Given the description of an element on the screen output the (x, y) to click on. 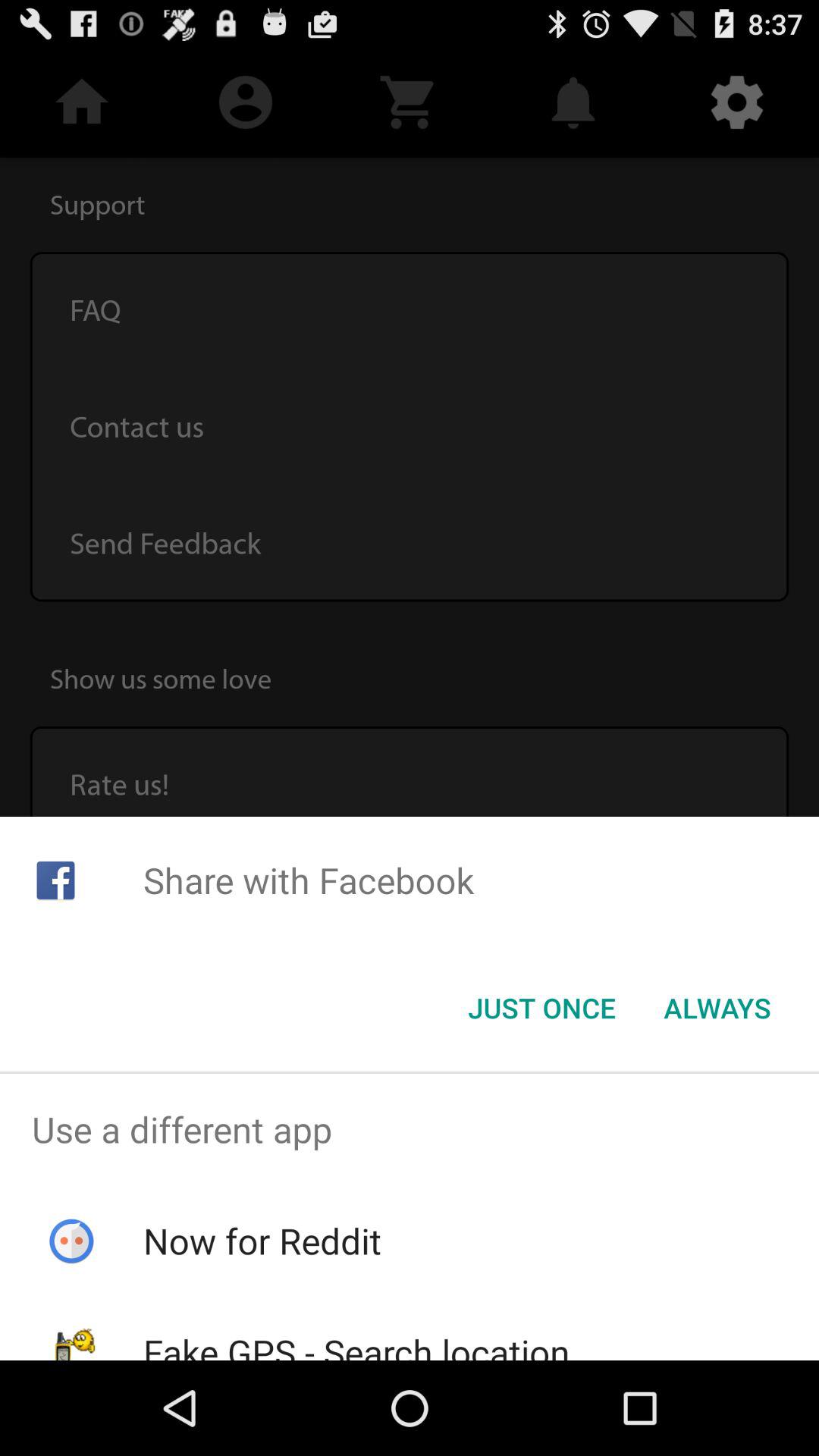
select the item at the bottom right corner (717, 1007)
